Given the description of an element on the screen output the (x, y) to click on. 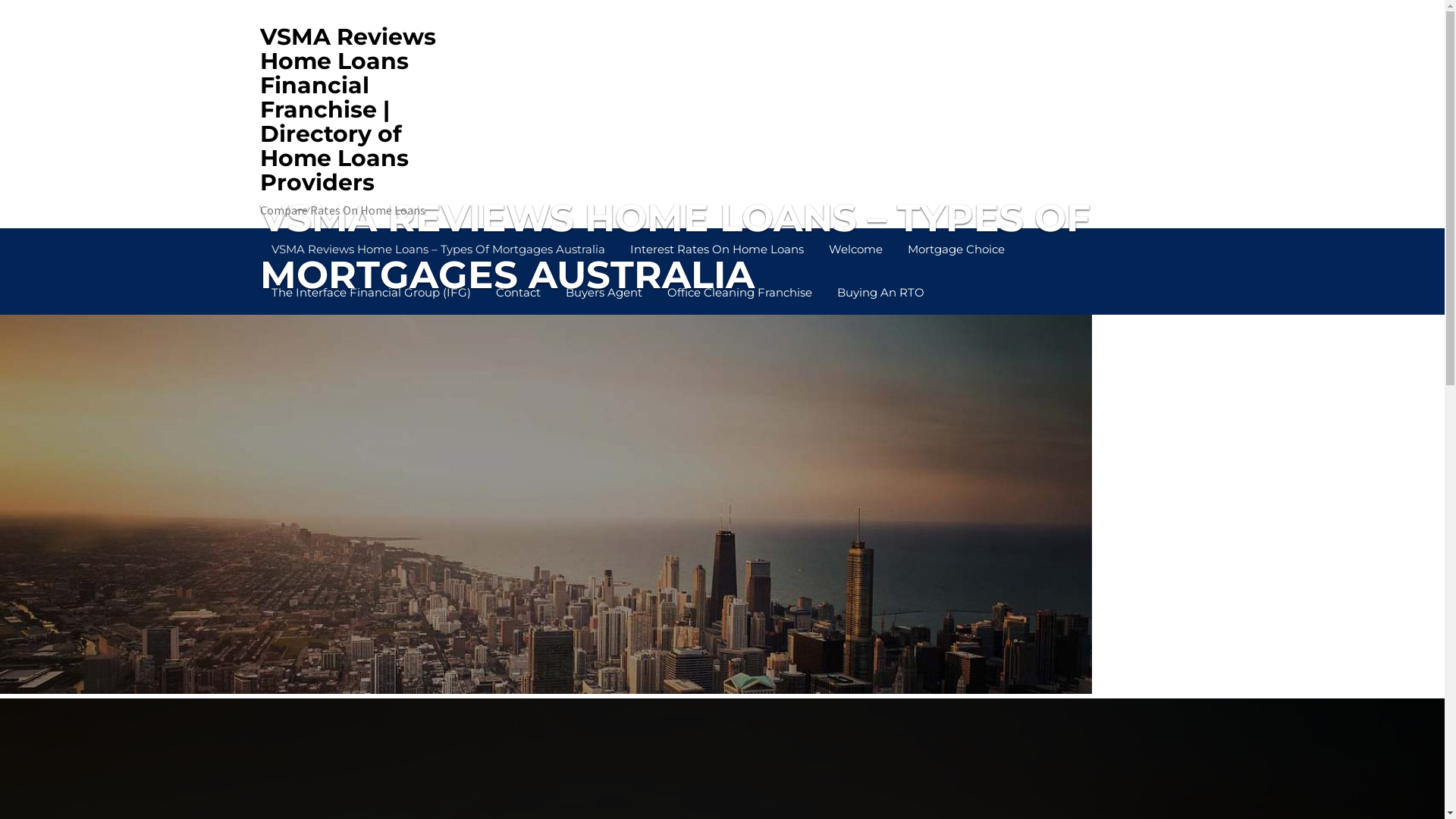
Buyers Agent Element type: text (602, 292)
Office Cleaning Franchise Element type: text (738, 292)
Buying An RTO Element type: text (880, 292)
Contact Element type: text (517, 292)
Interest Rates On Home Loans Element type: text (716, 249)
Welcome Element type: text (855, 249)
The Interface Financial Group (IFG) Element type: text (370, 292)
Mortgage Choice Element type: text (956, 249)
